Given the description of an element on the screen output the (x, y) to click on. 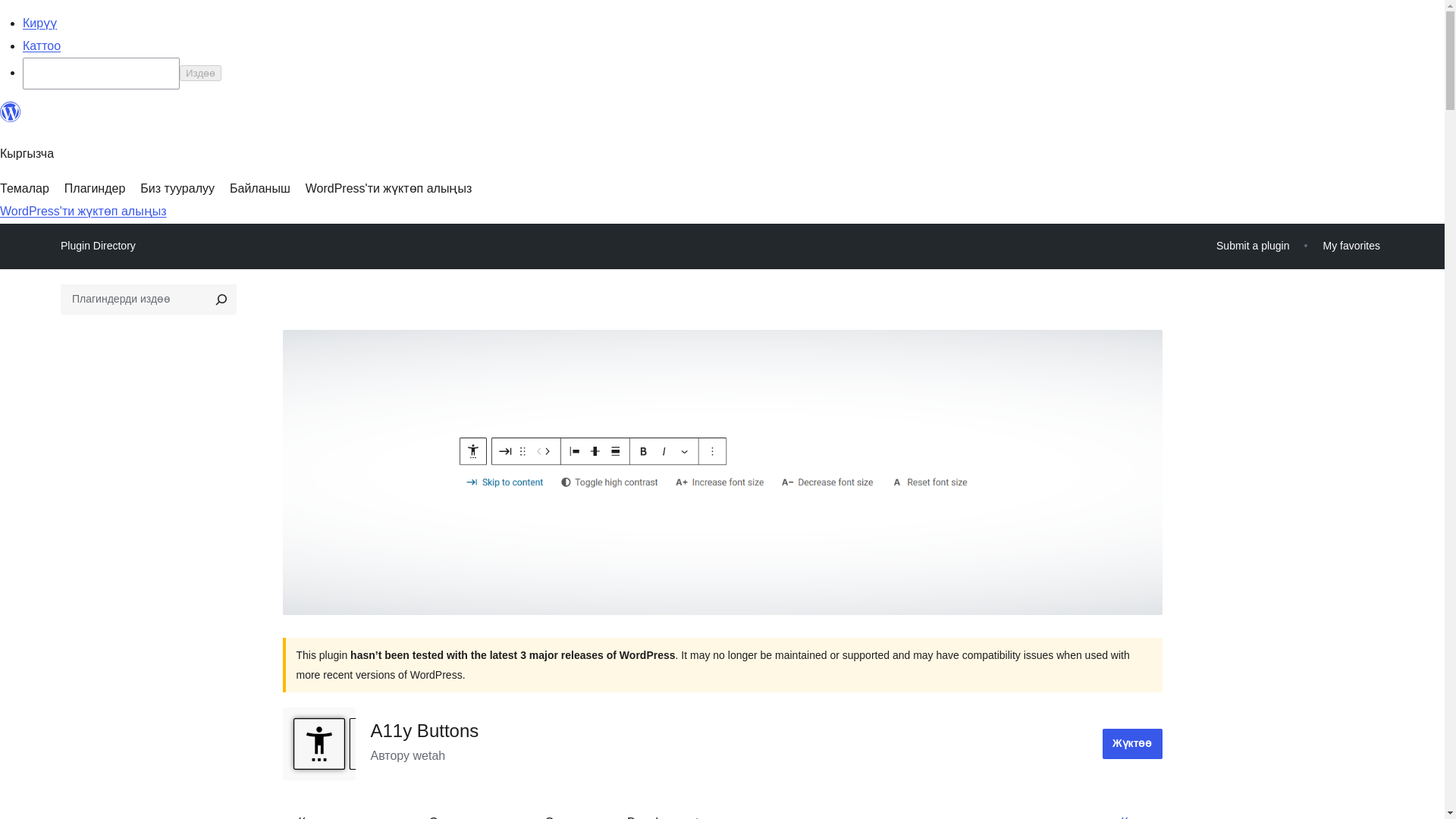
Plugin Directory (97, 245)
My favorites (1351, 246)
WordPress.org (10, 118)
WordPress.org (10, 111)
Development (662, 811)
Submit a plugin (1253, 246)
